Given the description of an element on the screen output the (x, y) to click on. 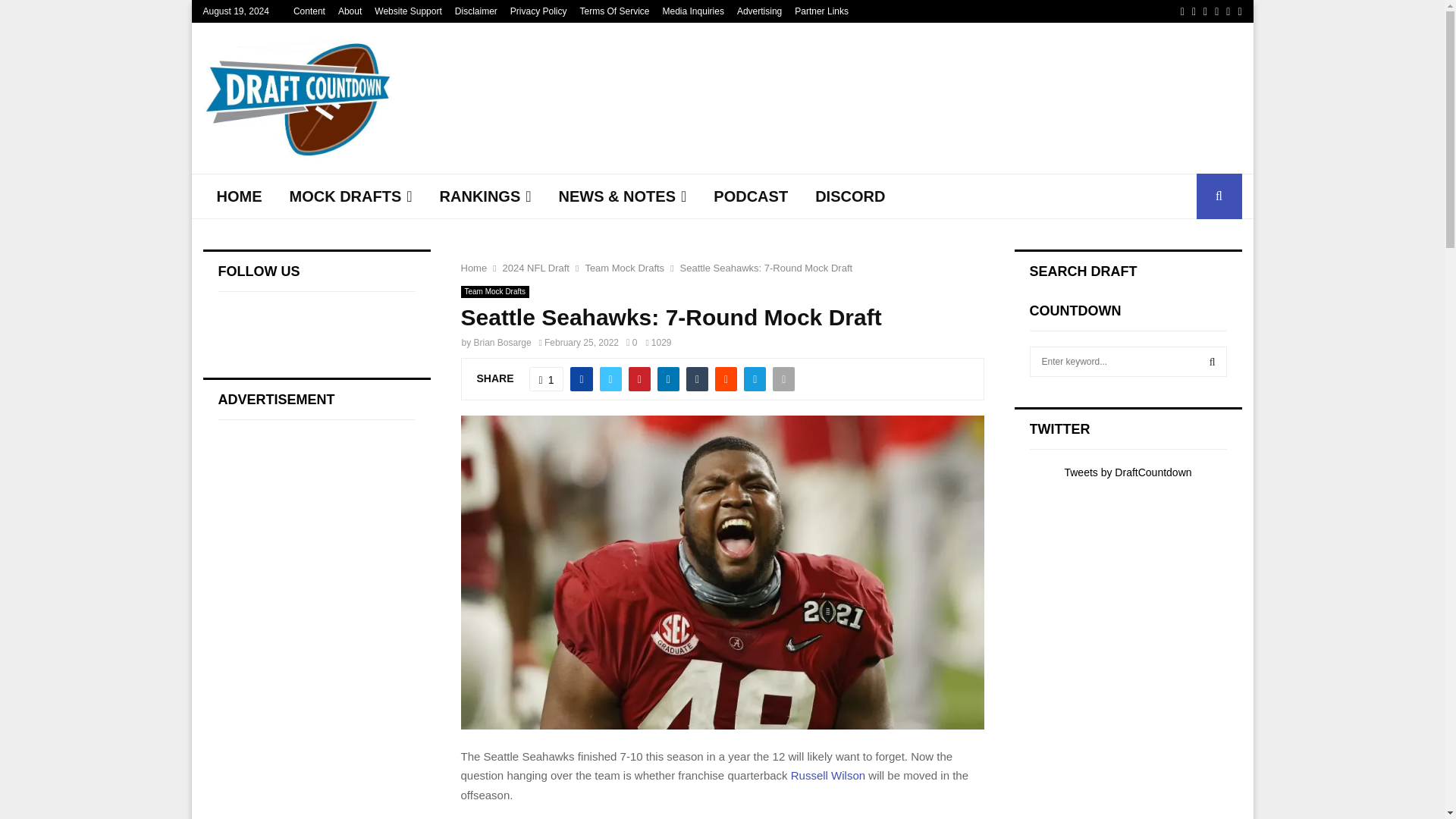
Terms Of Service (614, 11)
Content (309, 11)
Advertising (758, 11)
RANKINGS (485, 196)
MOCK DRAFTS (351, 196)
HOME (239, 196)
Media Inquiries (692, 11)
PODCAST (751, 196)
DISCORD (850, 196)
Disclaimer (475, 11)
